Given the description of an element on the screen output the (x, y) to click on. 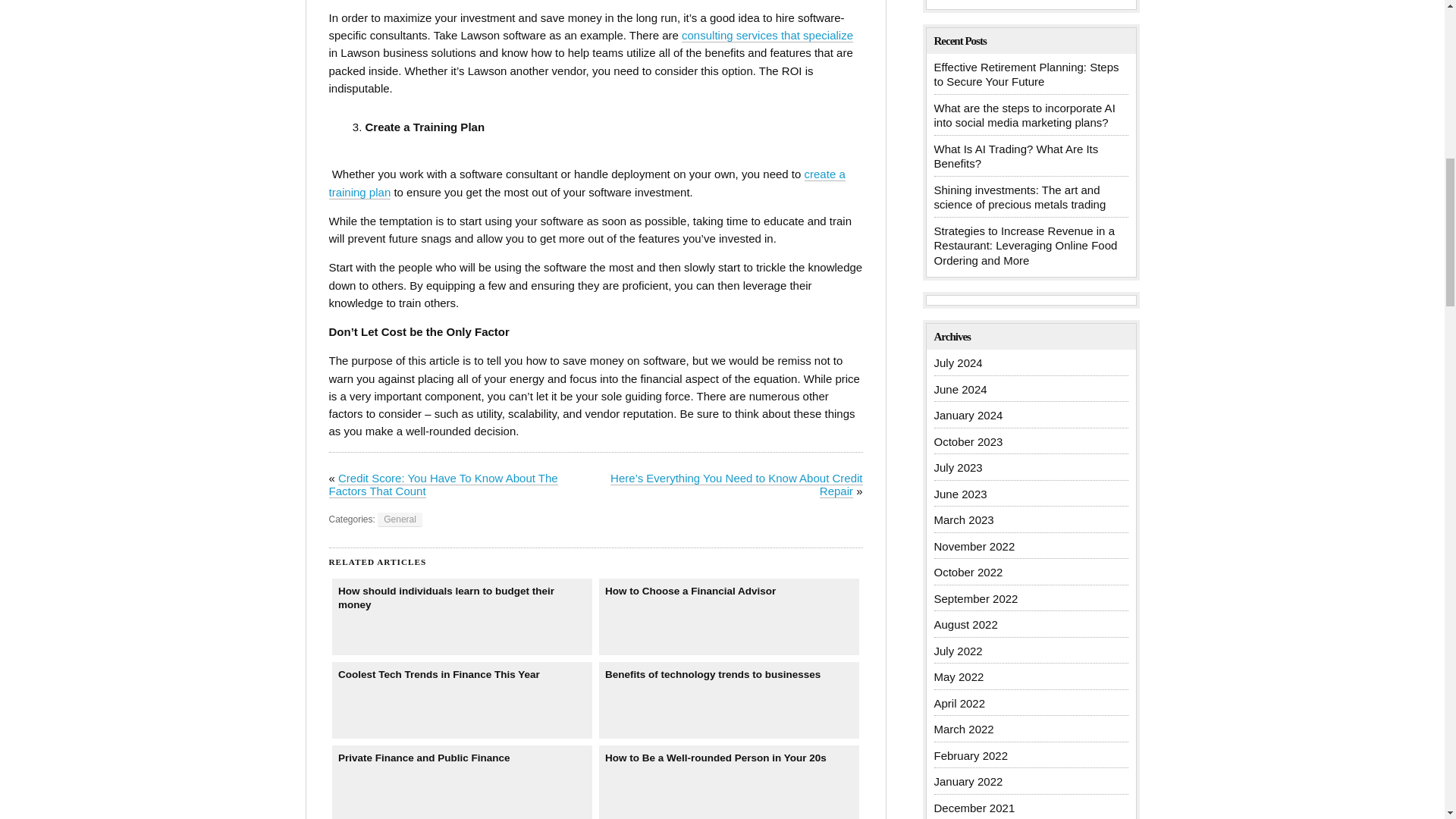
Coolest Tech Trends in Finance This Year (461, 699)
Benefits of technology trends to businesses (729, 699)
create a training plan (587, 183)
Credit Score: You Have To Know About The Factors That Count (443, 484)
How should individuals learn to budget their money (461, 617)
How to Choose a Financial Advisor (729, 617)
consulting services that specialize (767, 35)
General (399, 519)
How to Be a Well-rounded Person in Your 20s (729, 781)
Private Finance and Public Finance (461, 781)
